Given the description of an element on the screen output the (x, y) to click on. 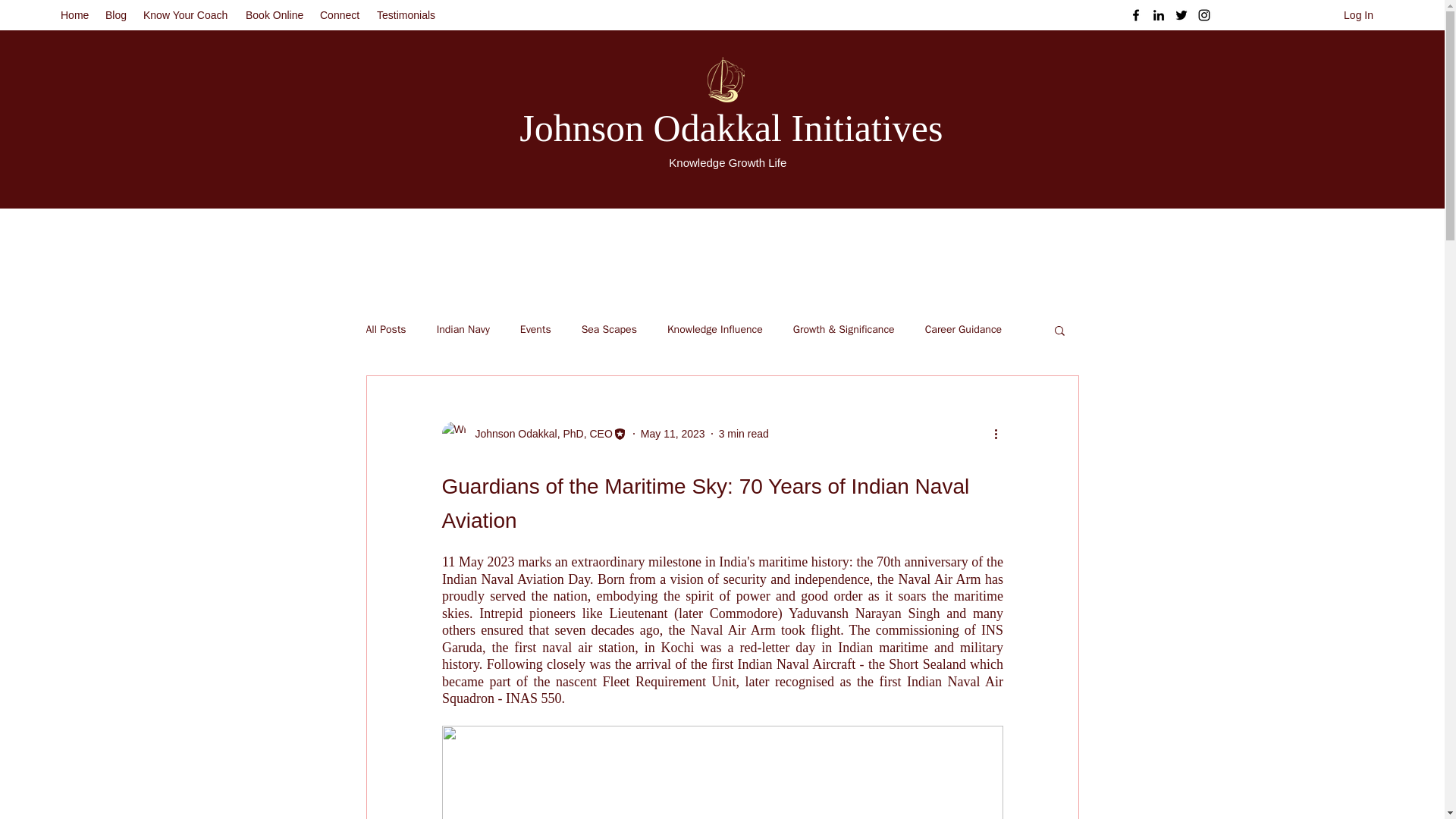
Events (535, 329)
Indian Navy (462, 329)
Johnson Odakkal, PhD, CEO  (538, 433)
3 min read (743, 433)
All Posts (385, 329)
Home (74, 15)
Sea Scapes (608, 329)
May 11, 2023 (672, 433)
Johnson Odakkal Initiatives (730, 128)
Know Your Coach (186, 15)
